Given the description of an element on the screen output the (x, y) to click on. 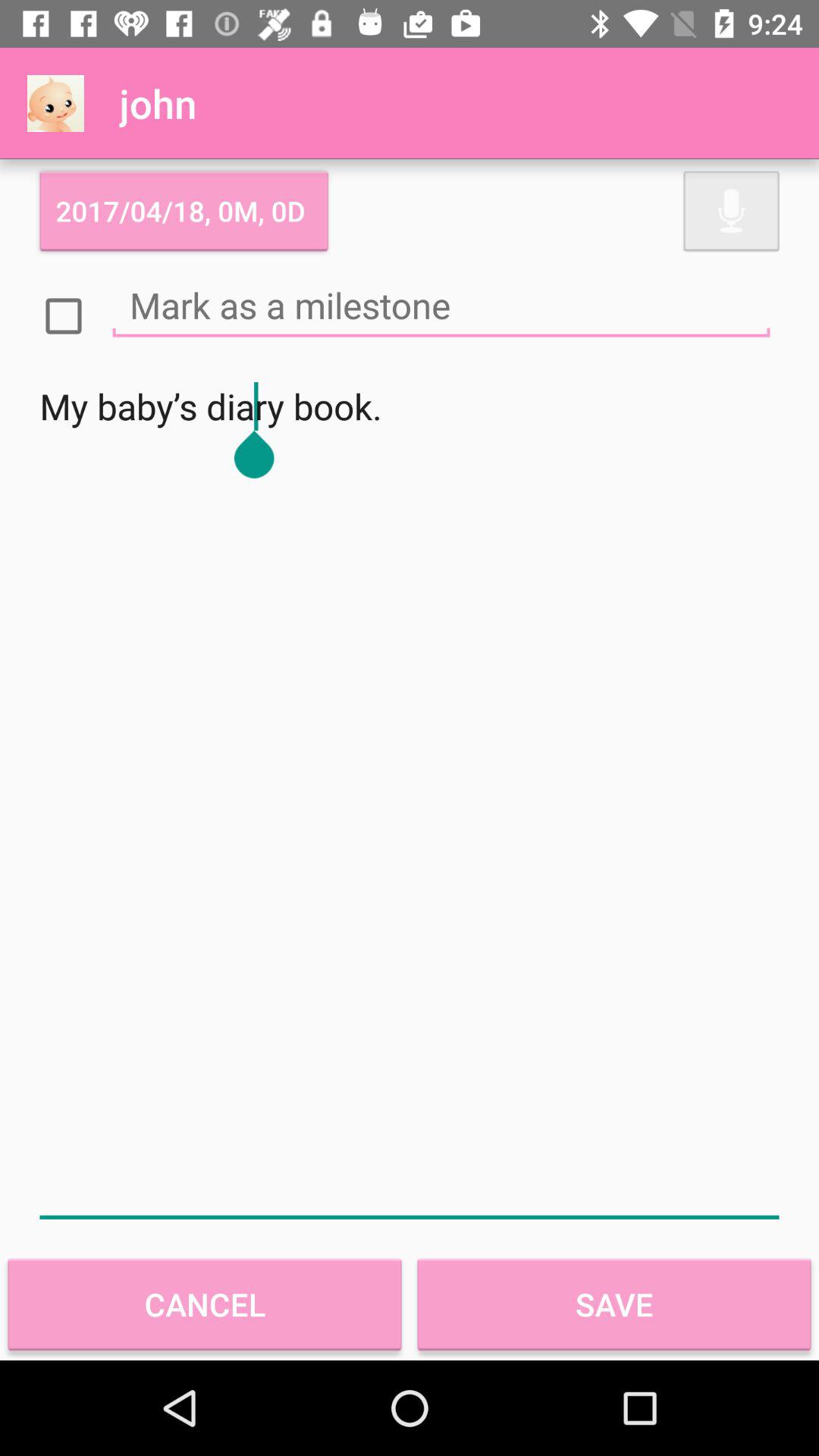
mark as a milestone (440, 305)
